Given the description of an element on the screen output the (x, y) to click on. 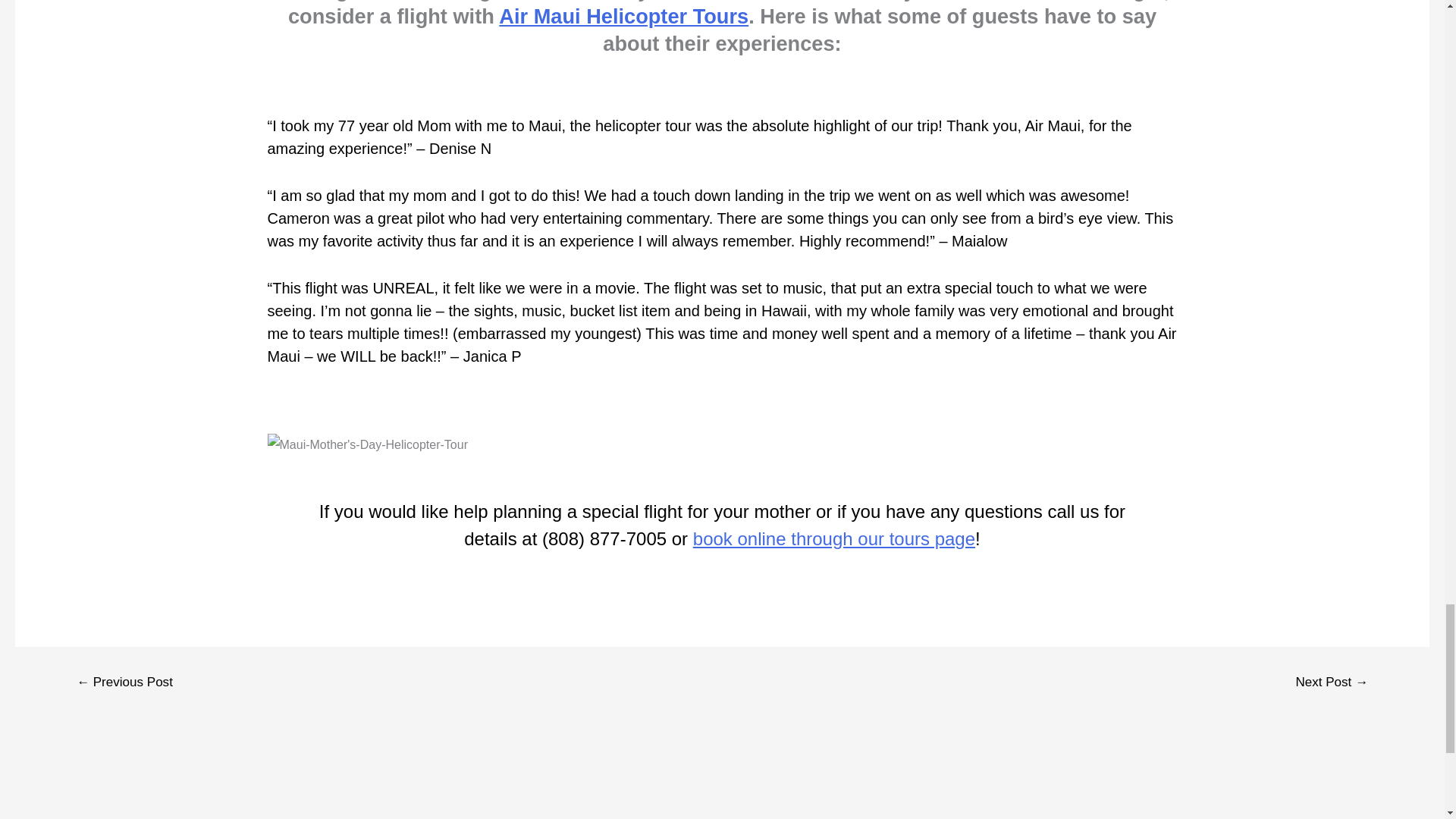
Air Maui Helicopter Tours (623, 15)
book online through our tours page (834, 538)
